Given the description of an element on the screen output the (x, y) to click on. 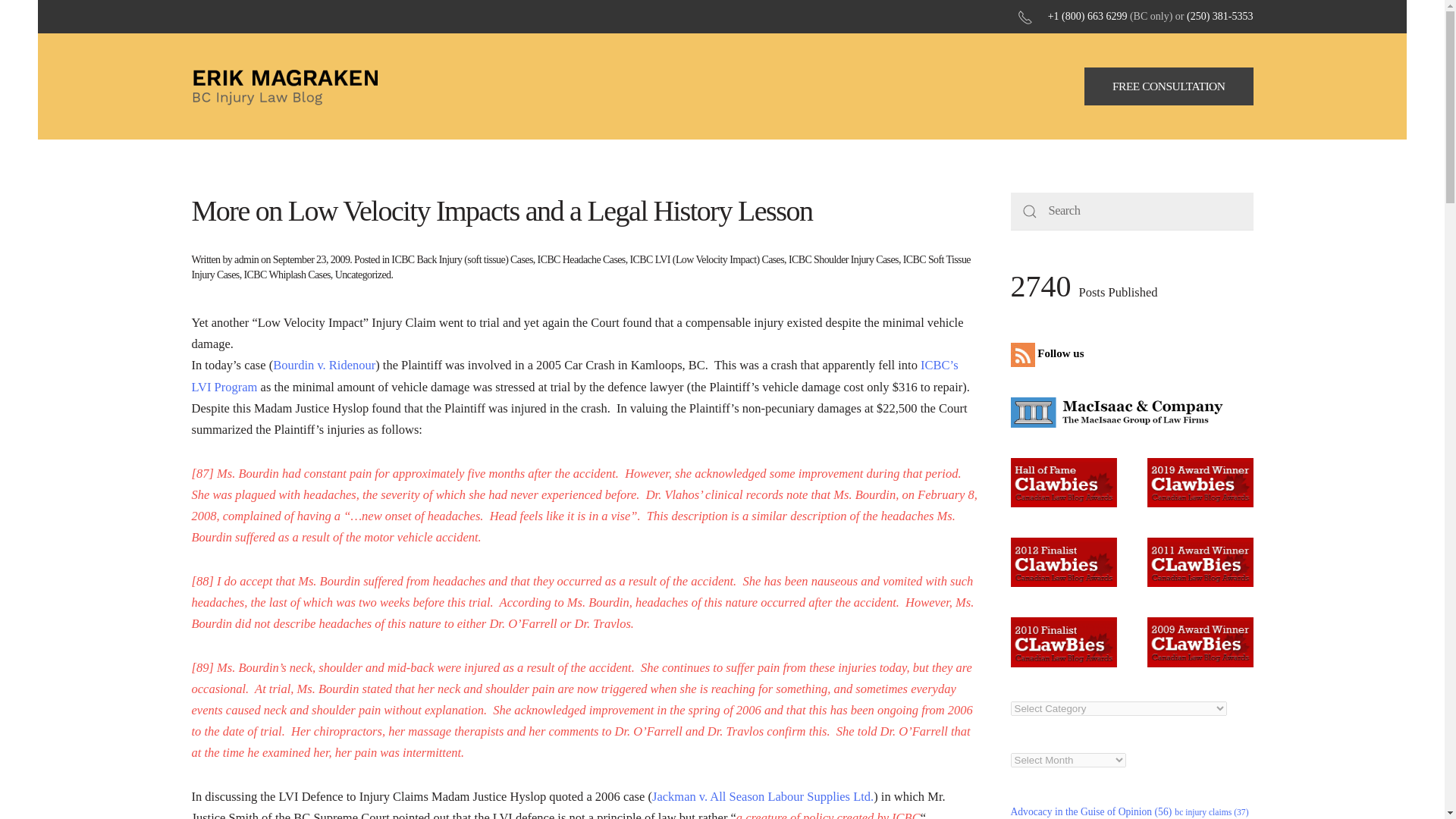
ICBC Headache Cases (581, 259)
admin (246, 259)
Bourdin v. Ridenour (324, 364)
ICBC Shoulder Injury Cases (843, 259)
Uncategorized (362, 274)
ICBC Soft Tissue Injury Cases (579, 266)
Jackman v. All Season Labour Supplies Ltd. (762, 796)
Follow us (1050, 353)
FREE CONSULTATION (1168, 86)
ICBC Whiplash Cases (287, 274)
